Given the description of an element on the screen output the (x, y) to click on. 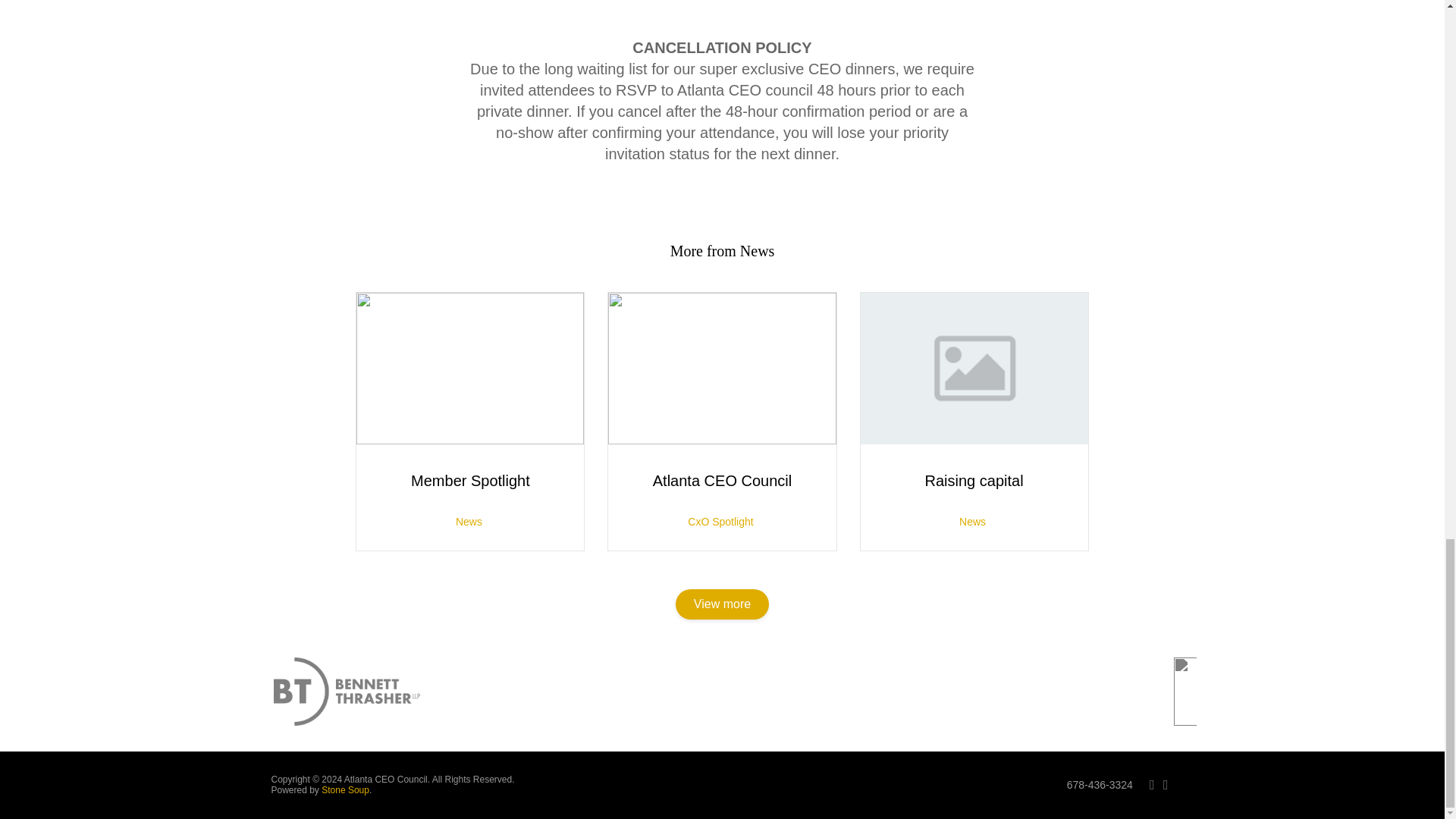
678-436-3324 (1099, 784)
News (972, 521)
CxO Spotlight (719, 521)
Stone Soup (345, 789)
View more (721, 603)
Atlanta CEO Council (722, 480)
News (468, 521)
Member Spotlight (470, 480)
Raising capital (974, 480)
